Given the description of an element on the screen output the (x, y) to click on. 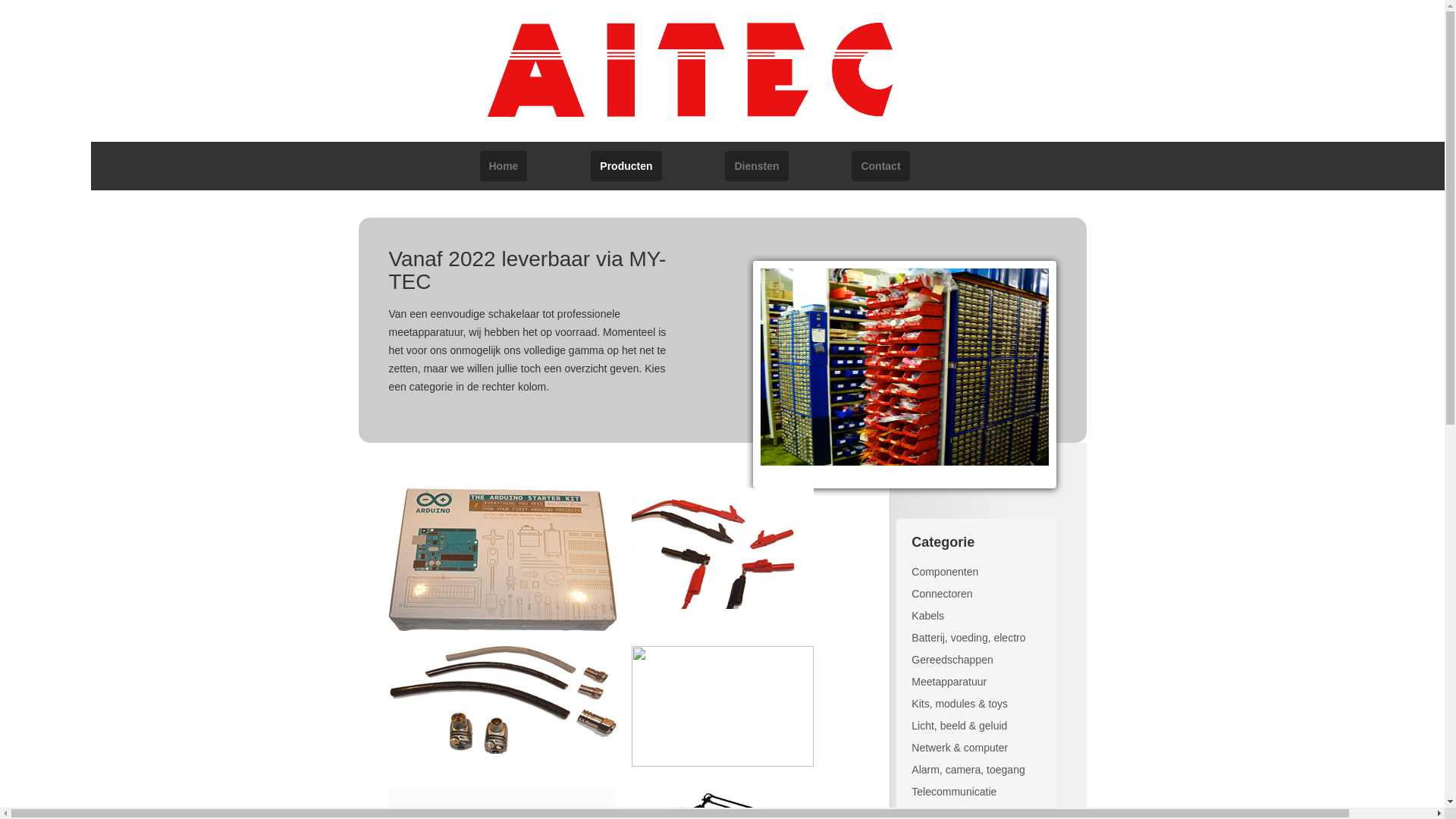
Contact Element type: text (880, 165)
Licht, beeld & geluid Element type: text (959, 725)
Netwerk & computer Element type: text (959, 747)
Home Element type: text (503, 165)
Meetapparatuur Element type: text (948, 681)
Diensten Element type: text (755, 165)
Kits, modules & toys Element type: text (959, 703)
Gereedschappen Element type: text (951, 659)
Telecommunicatie Element type: text (953, 791)
Connectoren Element type: text (941, 593)
Componenten Element type: text (944, 571)
Alarm, camera, toegang Element type: text (967, 769)
Producten Element type: text (625, 165)
Kabels Element type: text (927, 615)
Batterij, voeding, electro Element type: text (968, 637)
